Given the description of an element on the screen output the (x, y) to click on. 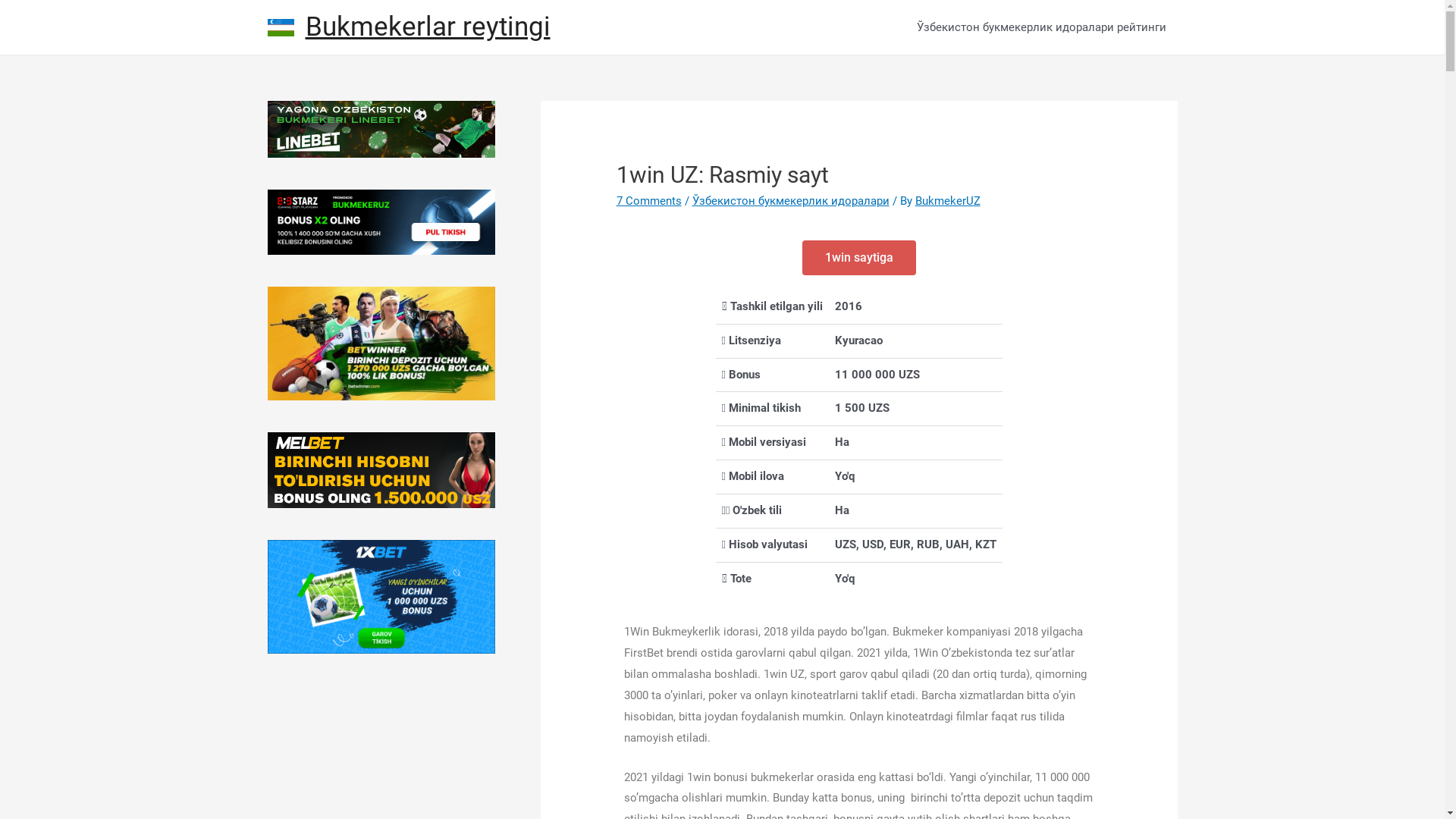
7 Comments Element type: text (648, 200)
Bukmekerlar reytingi Element type: text (426, 26)
BukmekerUZ Element type: text (947, 200)
linebet Element type: hover (380, 128)
1win saytiga Element type: text (859, 257)
888starz Element type: hover (380, 221)
